Given the description of an element on the screen output the (x, y) to click on. 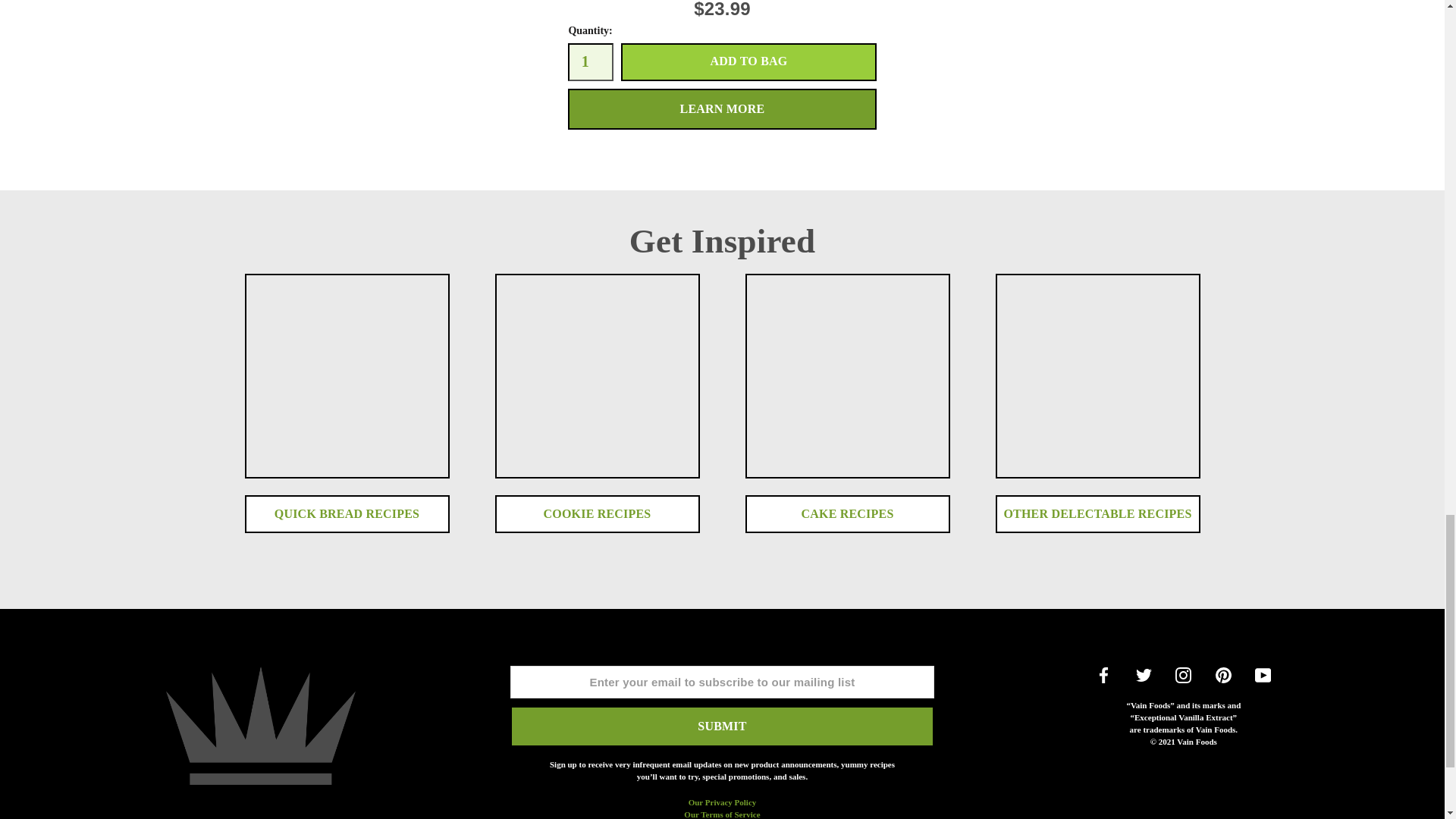
Privacy (722, 801)
Terms of Service (722, 814)
1 (589, 62)
